Given the description of an element on the screen output the (x, y) to click on. 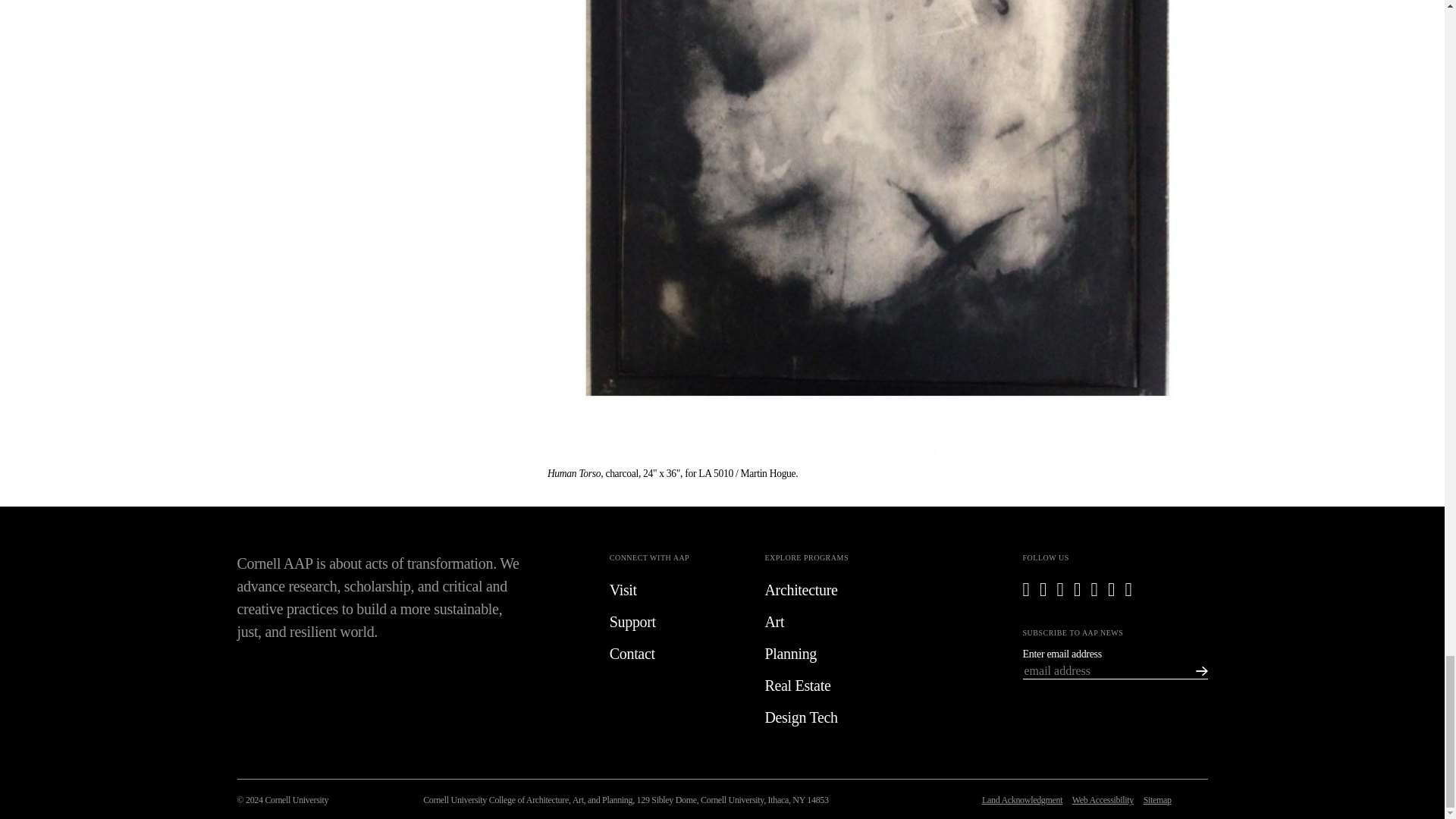
Support (676, 621)
Web Accessibility (1102, 799)
Architecture (830, 589)
Submit (1195, 670)
Contact (676, 653)
Land Acknowledgment (1021, 799)
Visit (676, 589)
Planning (830, 653)
Sitemap (1157, 799)
Design Tech (830, 716)
Real Estate (830, 685)
Art (830, 621)
